Given the description of an element on the screen output the (x, y) to click on. 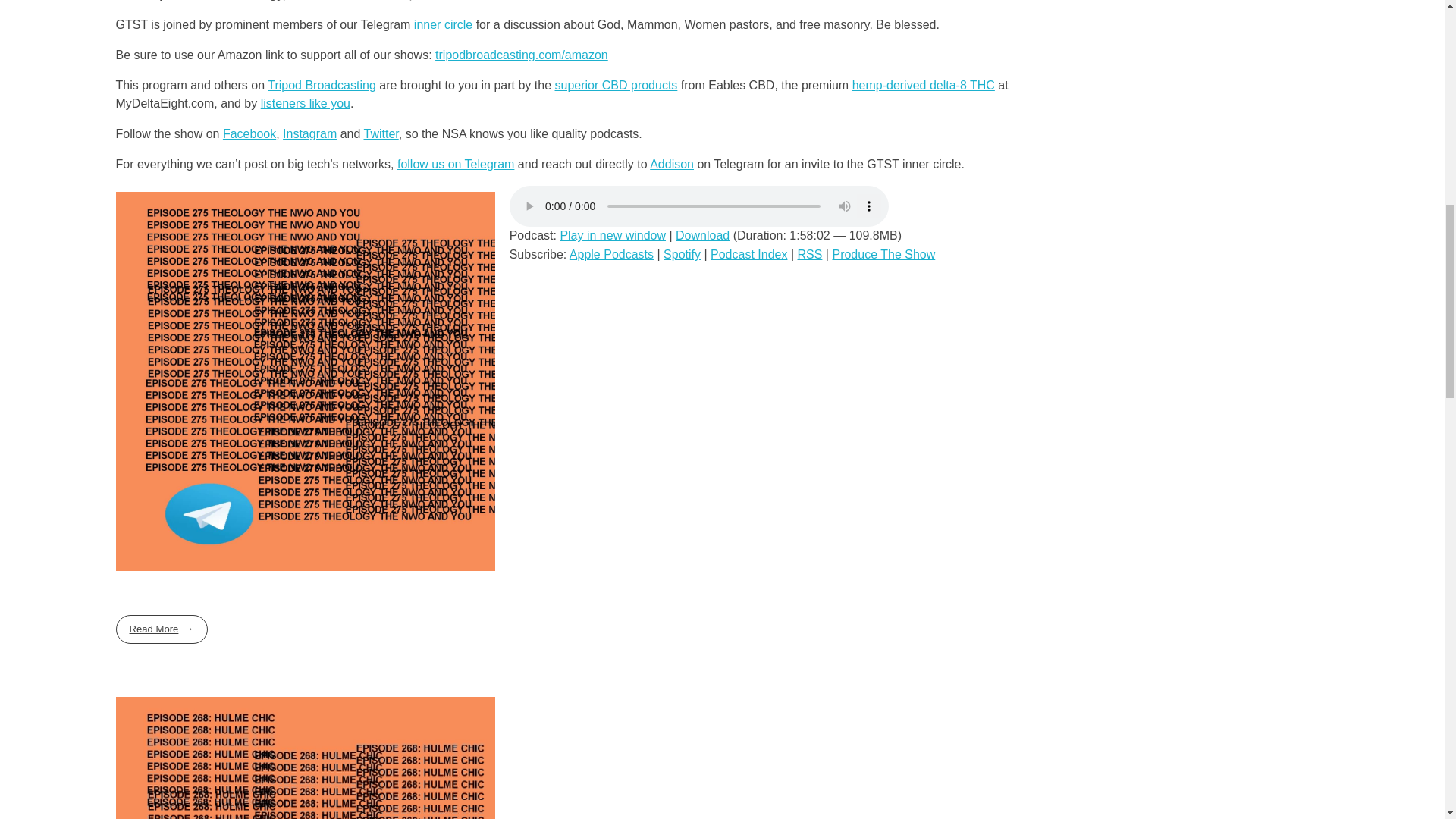
superior CBD products (616, 84)
listeners like you (305, 103)
Play in new window (612, 235)
Play in new window (612, 235)
Read More (160, 628)
Tripod Broadcasting (321, 84)
inner circle (442, 24)
Addison (671, 164)
Eables CBD Full Spectrum CBD (616, 84)
Produce The Show (882, 254)
